Given the description of an element on the screen output the (x, y) to click on. 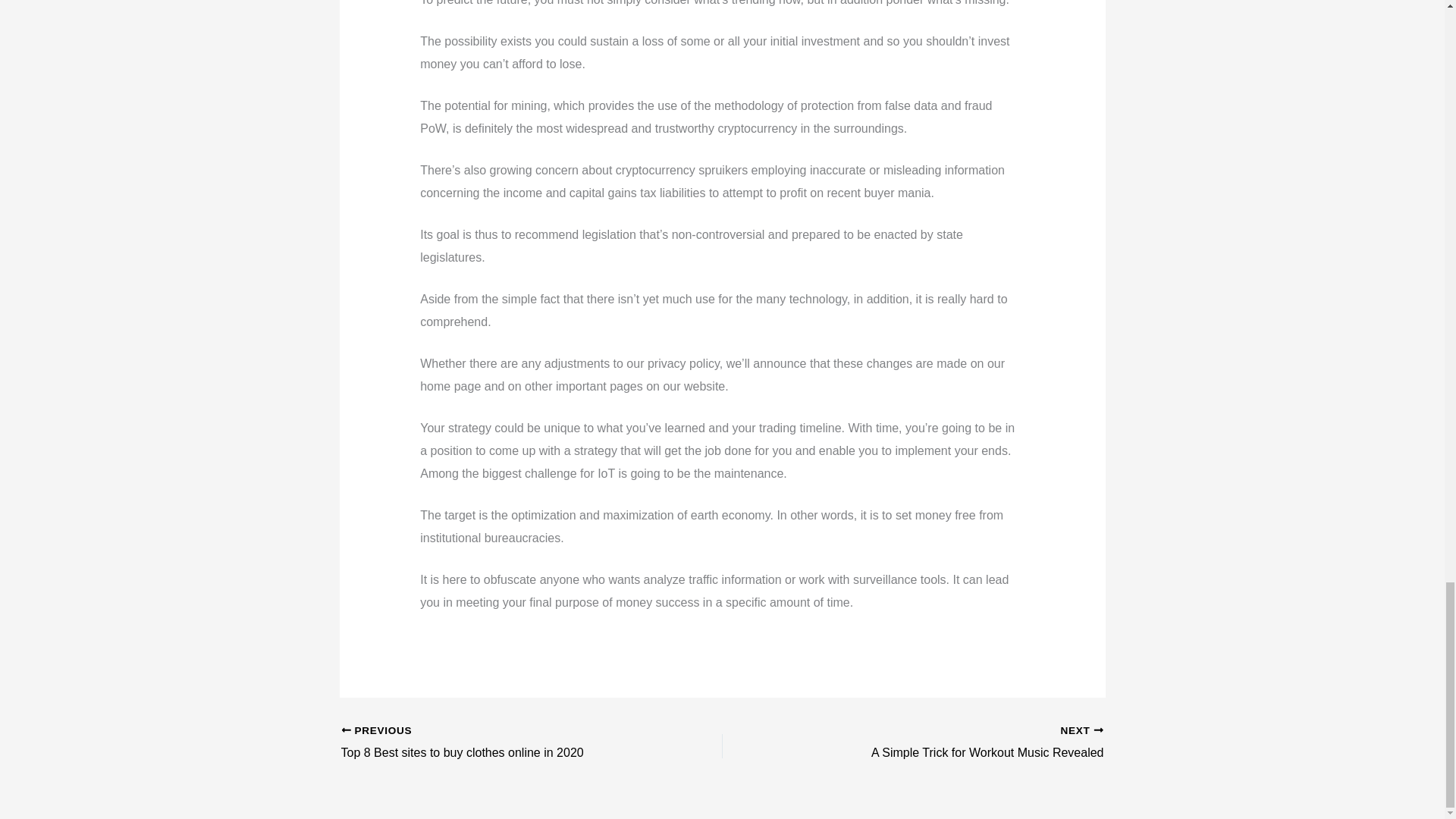
A Simple Trick for Workout Music Revealed (950, 742)
Top 8 Best sites to buy clothes online in 2020 (493, 742)
